Given the description of an element on the screen output the (x, y) to click on. 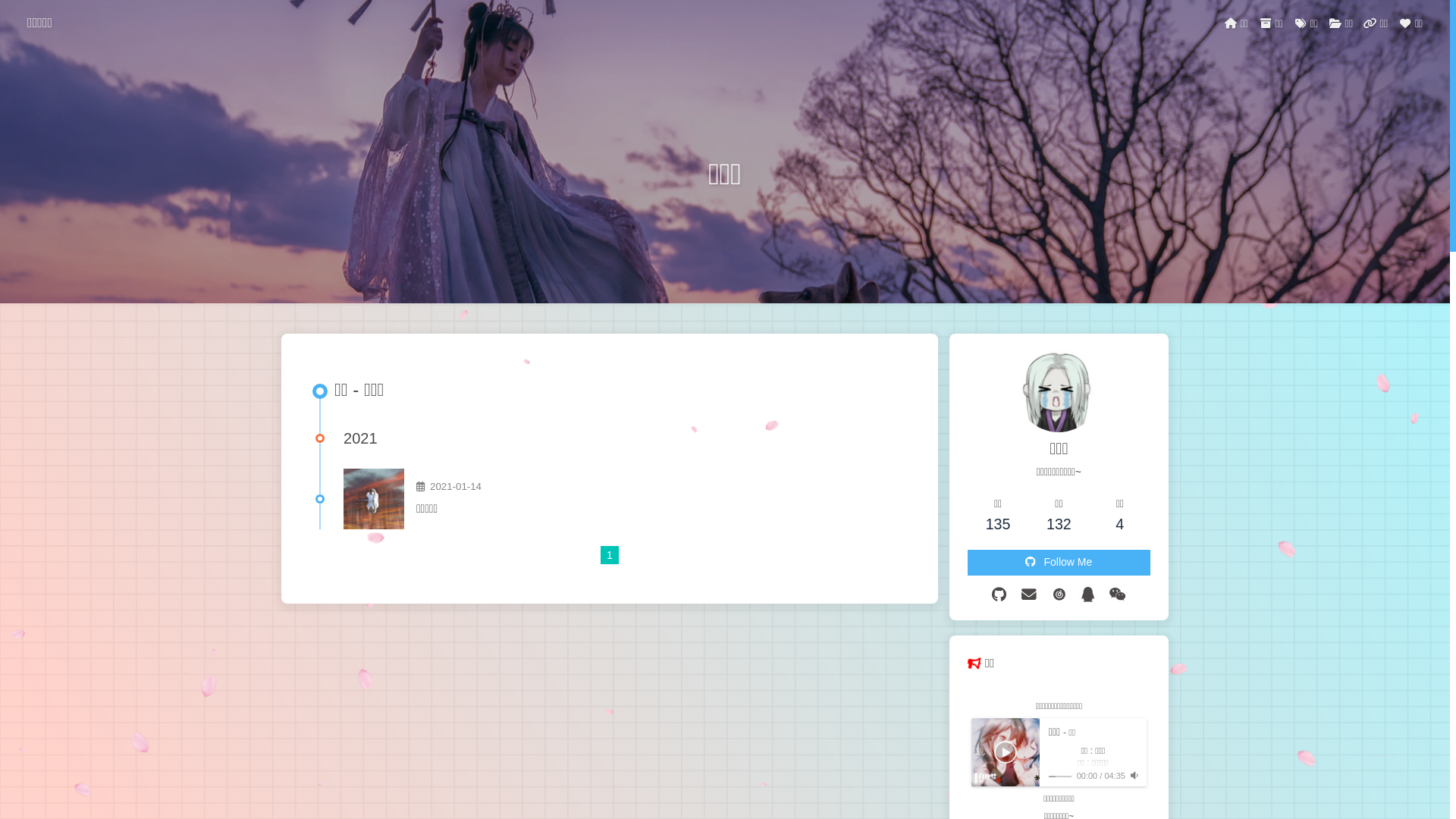
Github Element type: hover (998, 594)
Email Element type: hover (1028, 594)
Follow Me Element type: text (1058, 562)
QQ Element type: hover (1087, 594)
